Given the description of an element on the screen output the (x, y) to click on. 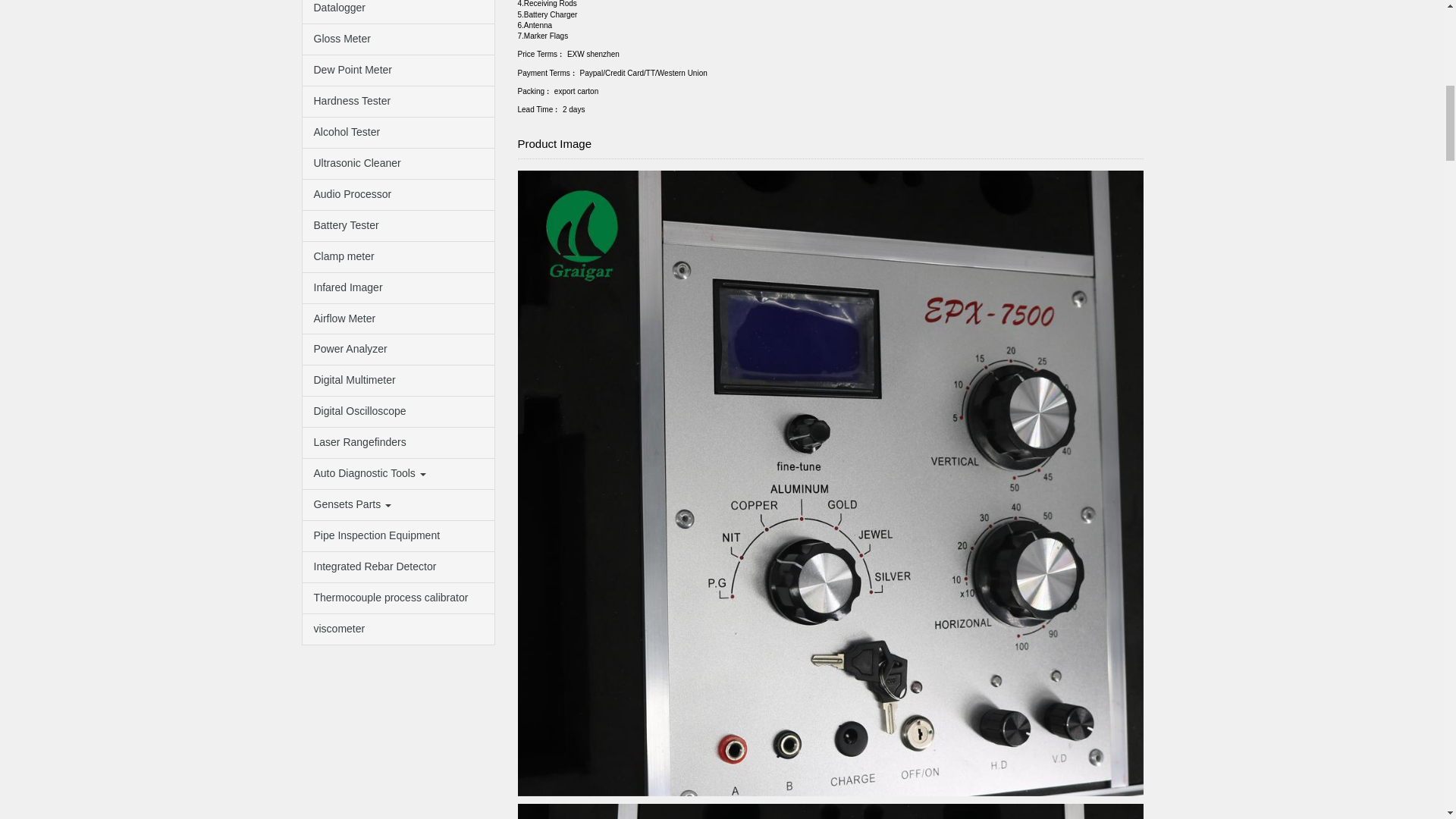
Gloss Meter (397, 39)
Dew Point Meter (397, 70)
Datalogger (397, 11)
